Given the description of an element on the screen output the (x, y) to click on. 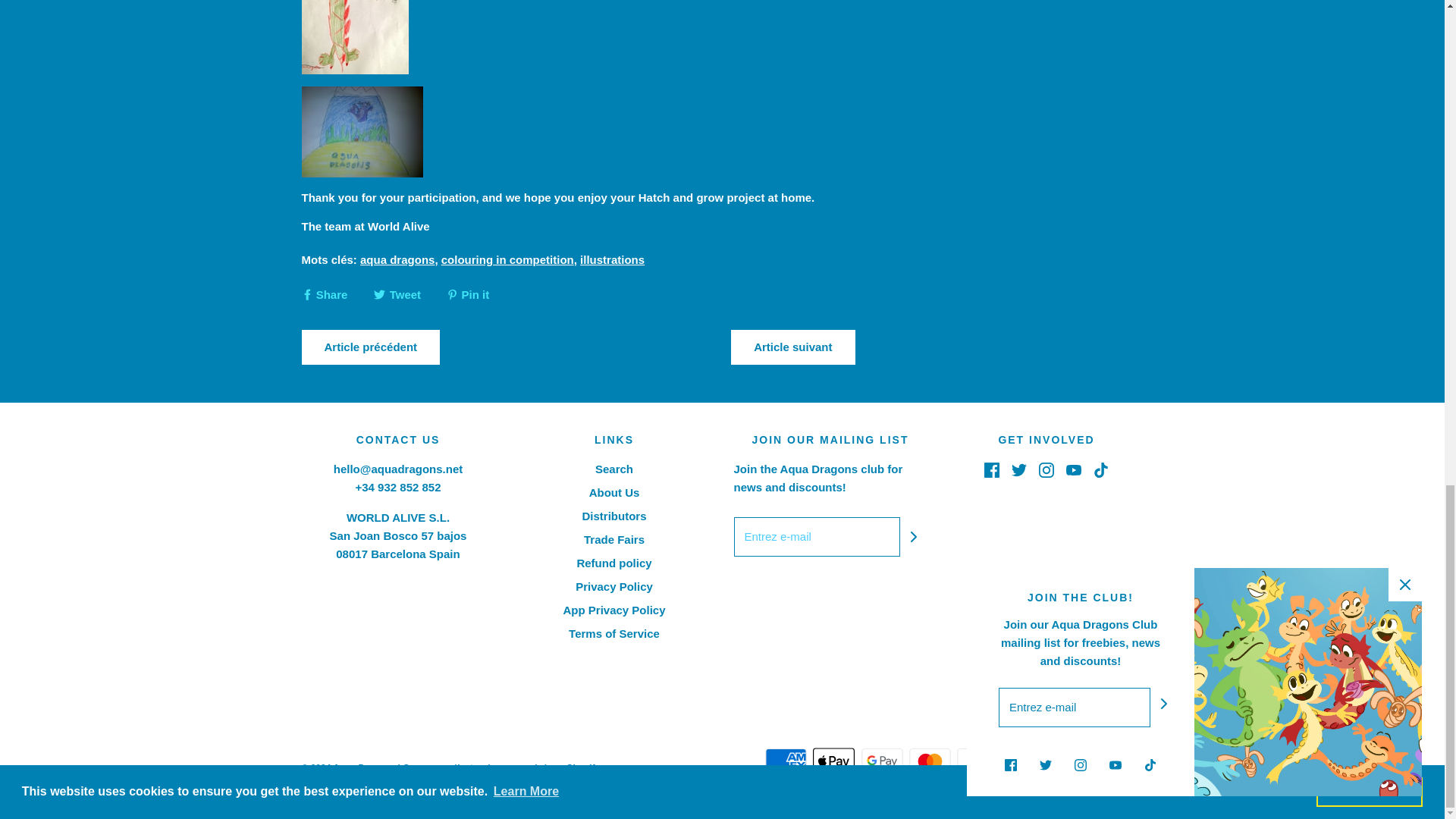
Facebook icon (991, 469)
Twitter icon (1018, 469)
